Given the description of an element on the screen output the (x, y) to click on. 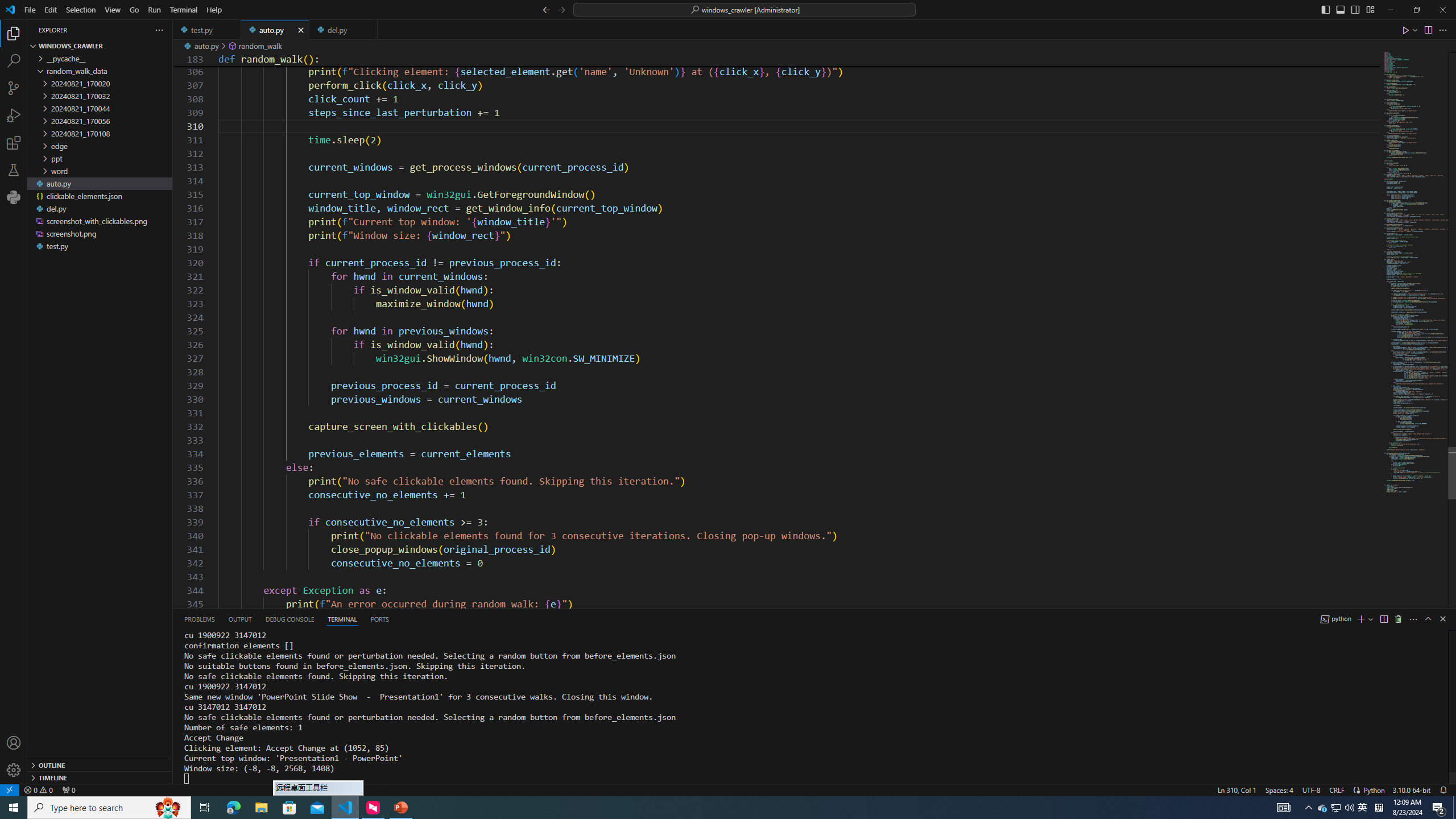
Accounts (13, 742)
Customize Layout... (1369, 9)
CRLF (1336, 789)
Edit (50, 9)
Hide Panel (1442, 618)
Terminal actions (909, 618)
Outline Section (99, 764)
Python (13, 197)
Ln 310, Col 1 (1236, 789)
remote (9, 789)
Views and More Actions... (1412, 618)
Go Back (Alt+LeftArrow) (546, 9)
Testing (13, 169)
